Given the description of an element on the screen output the (x, y) to click on. 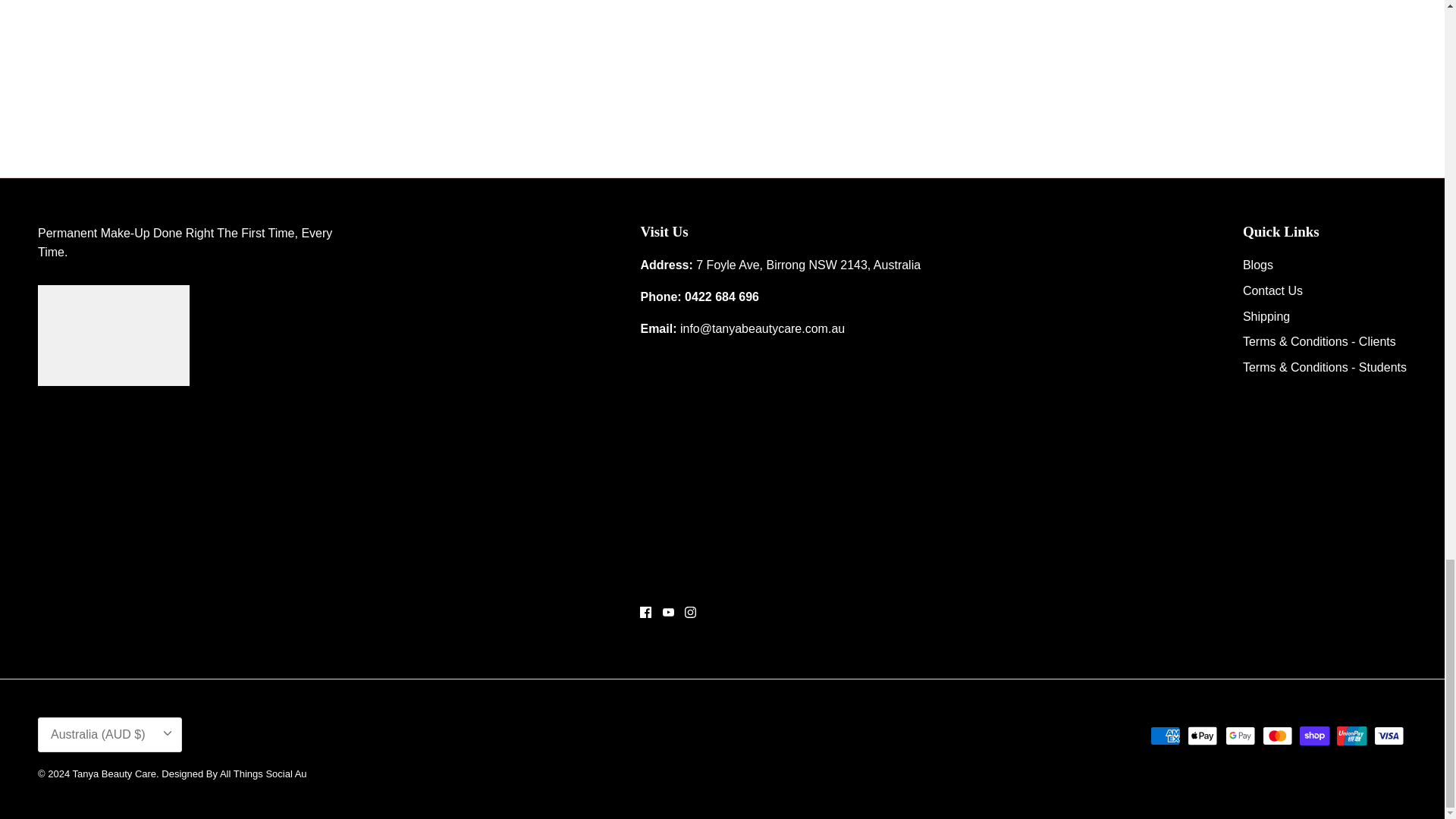
American Express (1165, 735)
Down (167, 733)
Union Pay (1351, 735)
Facebook (645, 612)
Google Pay (1240, 735)
Instagram (689, 612)
Apple Pay (1202, 735)
Youtube (668, 612)
Mastercard (1277, 735)
Visa (1388, 735)
